Given the description of an element on the screen output the (x, y) to click on. 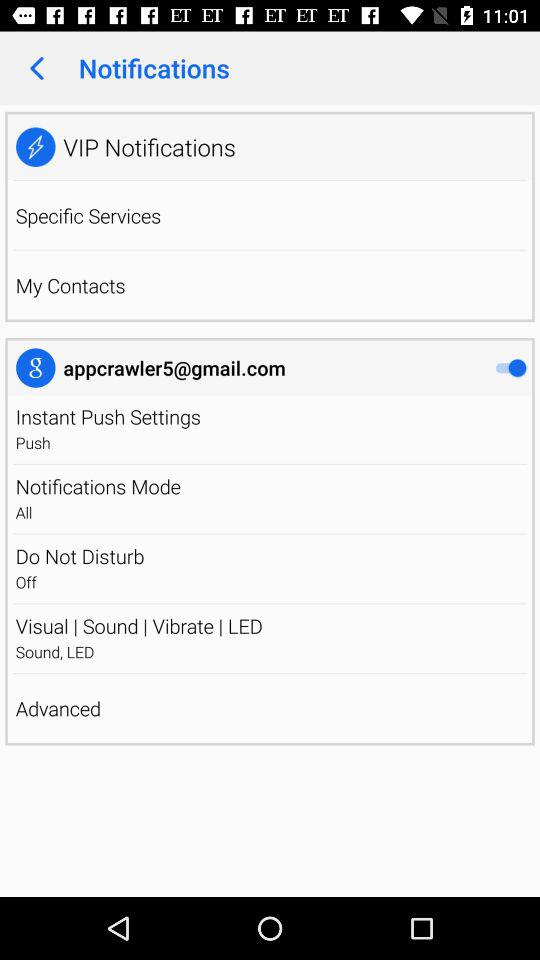
press the icon above the all (97, 486)
